Given the description of an element on the screen output the (x, y) to click on. 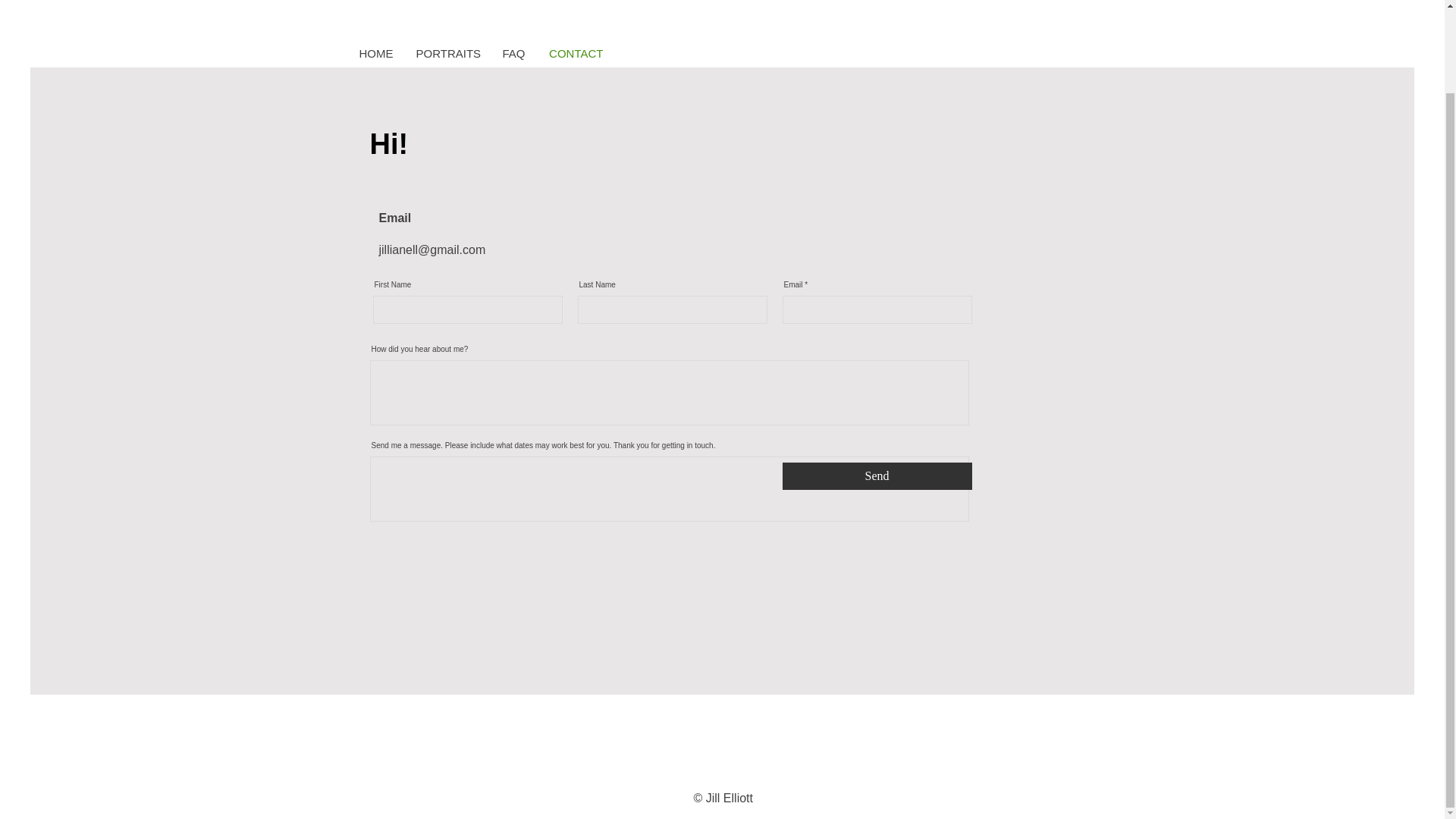
Send (877, 475)
